Given the description of an element on the screen output the (x, y) to click on. 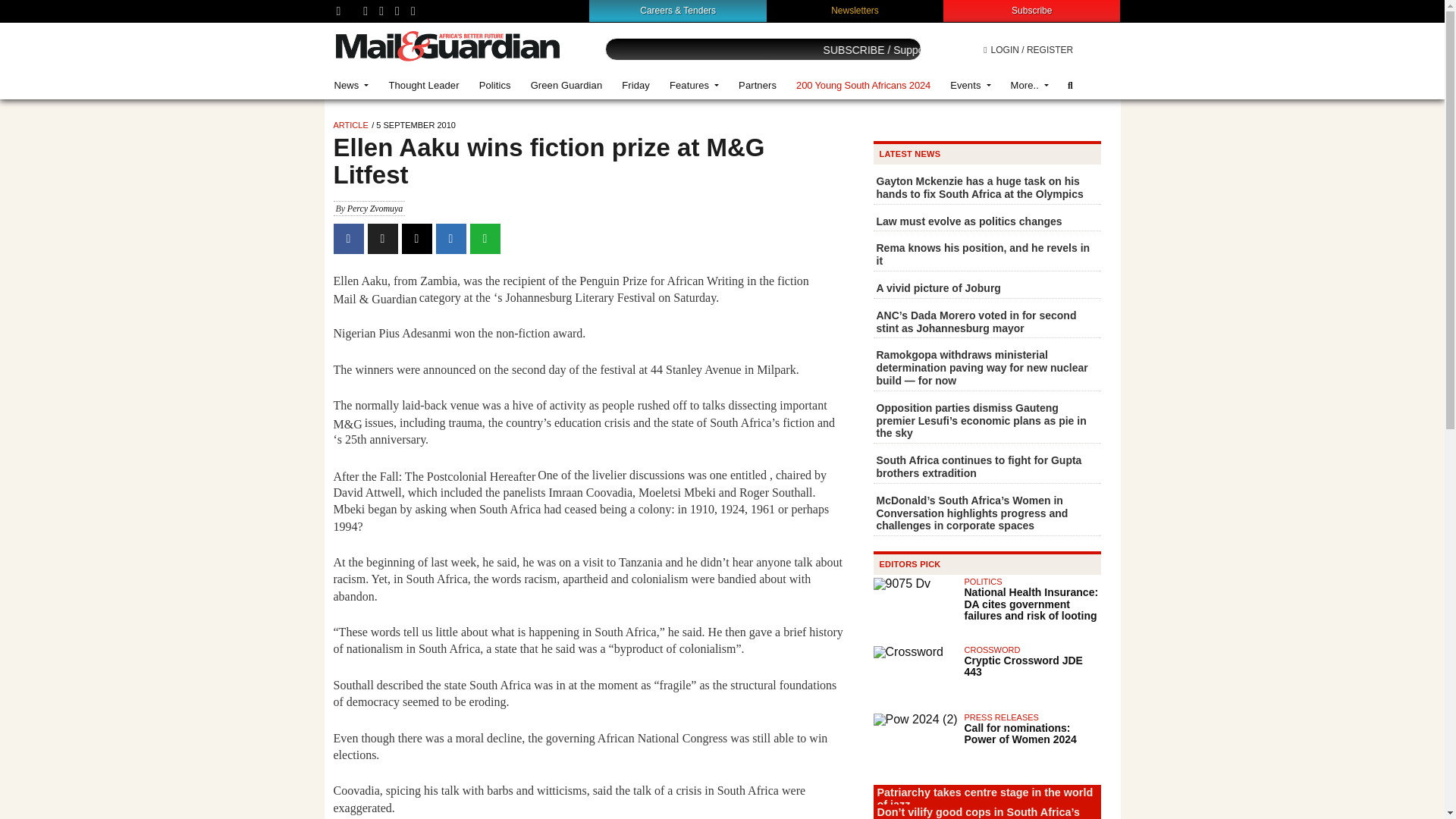
Green Guardian (566, 85)
Politics (494, 85)
Friday (635, 85)
Thought Leader (423, 85)
Subscribe (1031, 9)
Features (694, 85)
News (351, 85)
News (351, 85)
Newsletters (855, 9)
